Given the description of an element on the screen output the (x, y) to click on. 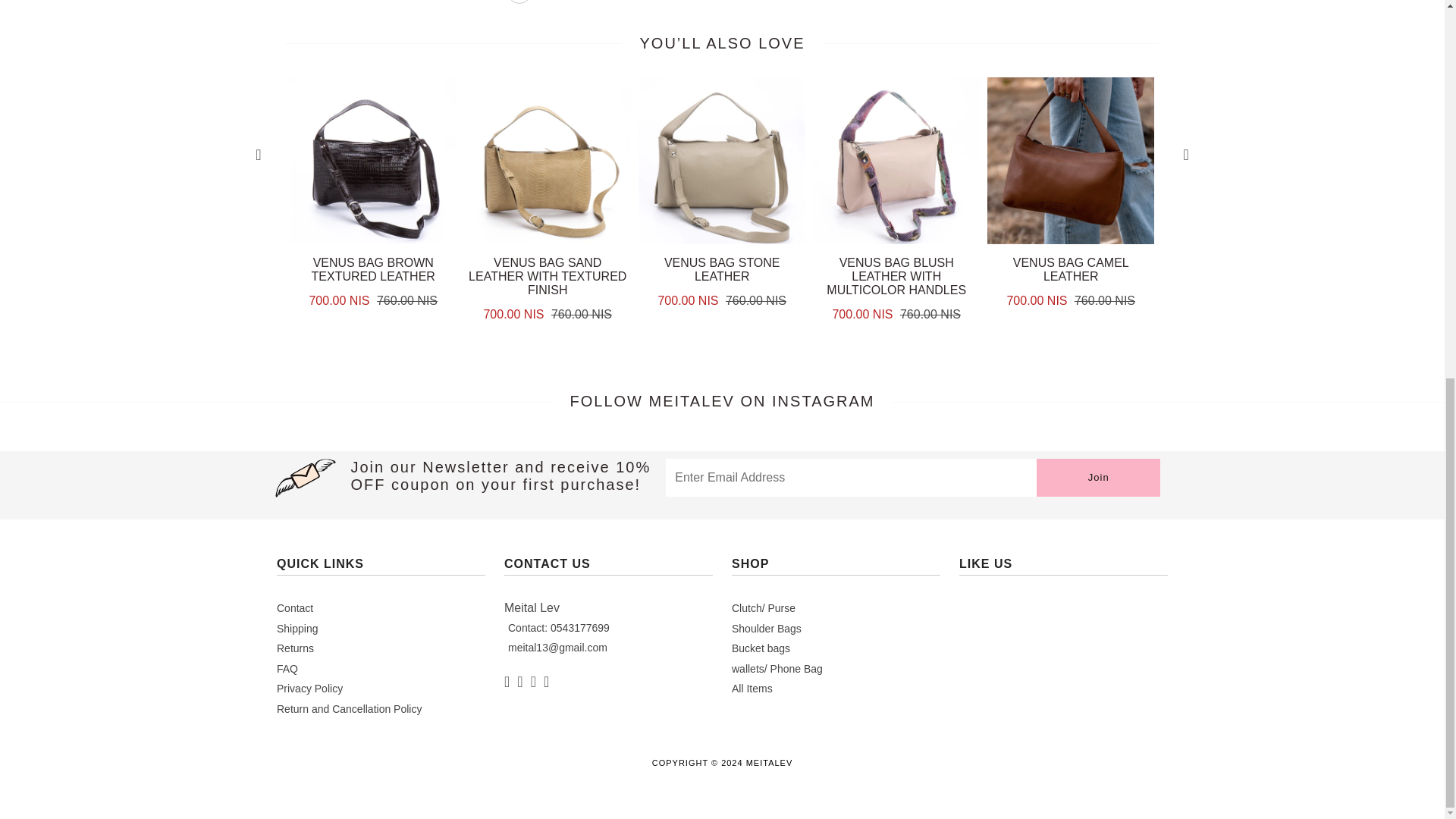
Join (1098, 477)
Enter Email Address (850, 477)
Venus bag brown textured leather (373, 239)
Venus bag sand leather with textured finish (547, 239)
